Given the description of an element on the screen output the (x, y) to click on. 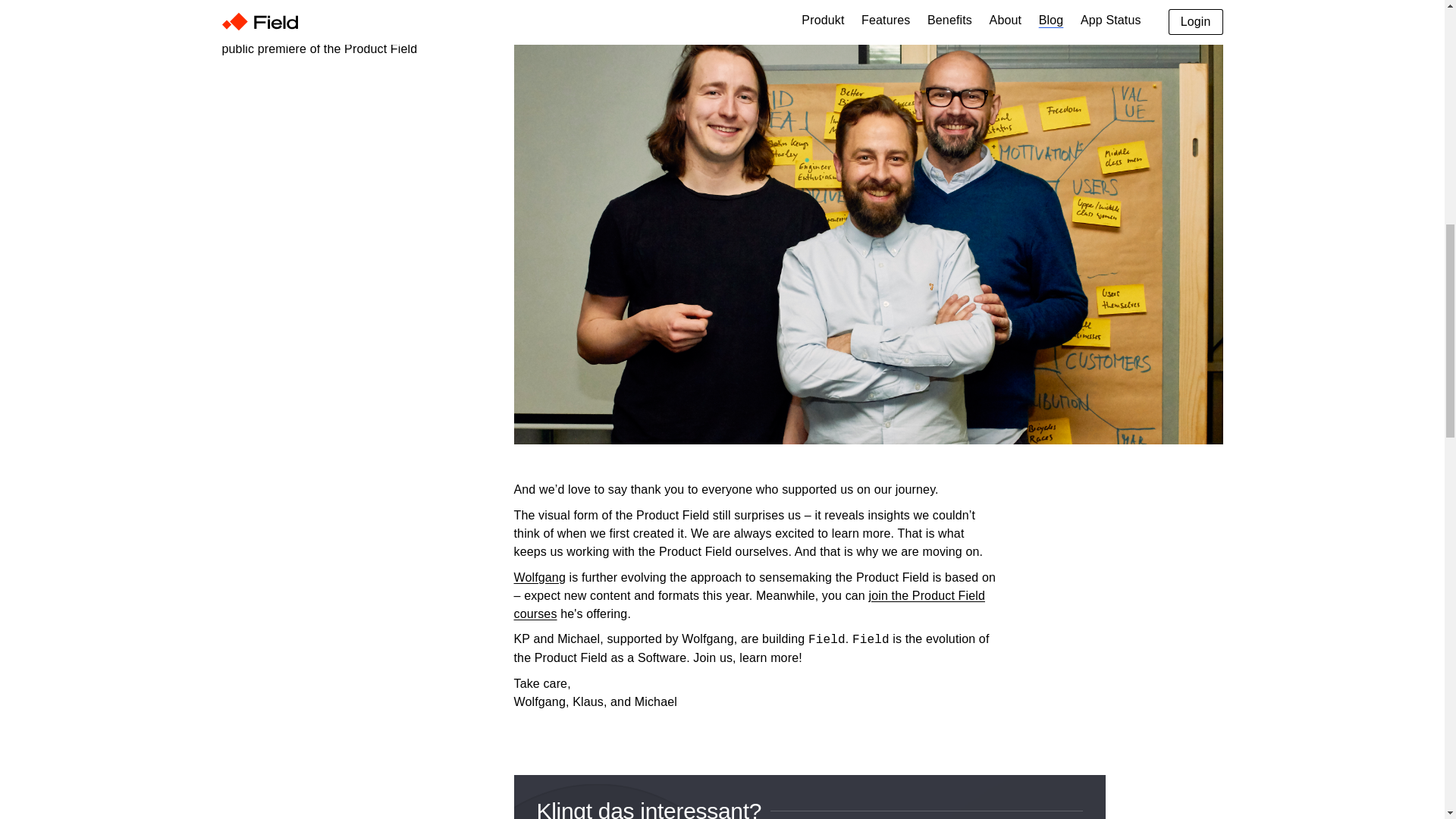
join the Product Field courses (749, 603)
Wolfgang (539, 576)
